Given the description of an element on the screen output the (x, y) to click on. 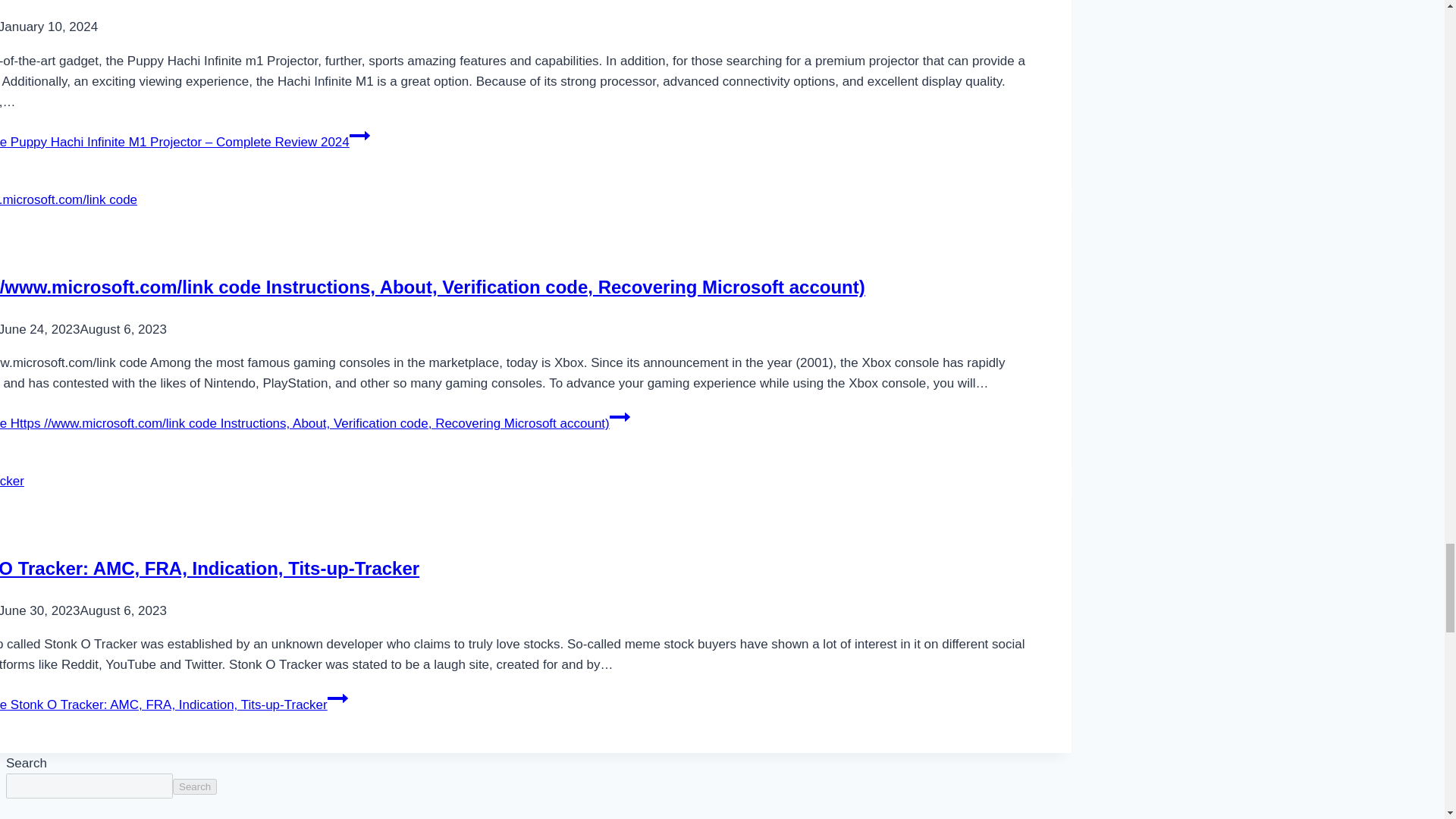
Continue (620, 416)
Continue (359, 135)
Continue (337, 698)
